Given the description of an element on the screen output the (x, y) to click on. 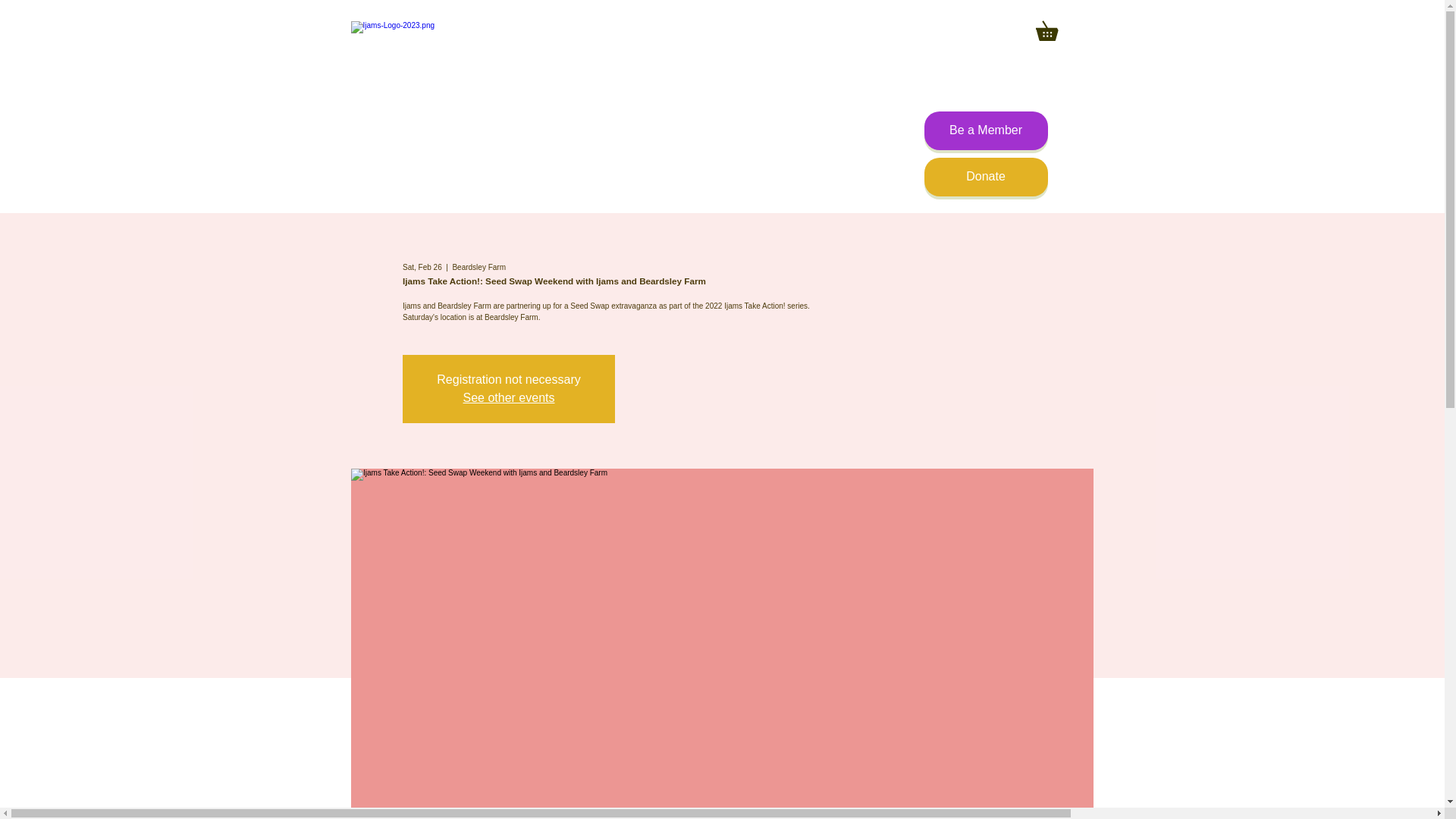
Ijams white horizontal transparent.png (454, 50)
About Ijams (789, 228)
Be a Member (984, 130)
Get Involved (891, 228)
Donate (984, 177)
Visit Ijams (395, 228)
Things To Do (494, 228)
